Given the description of an element on the screen output the (x, y) to click on. 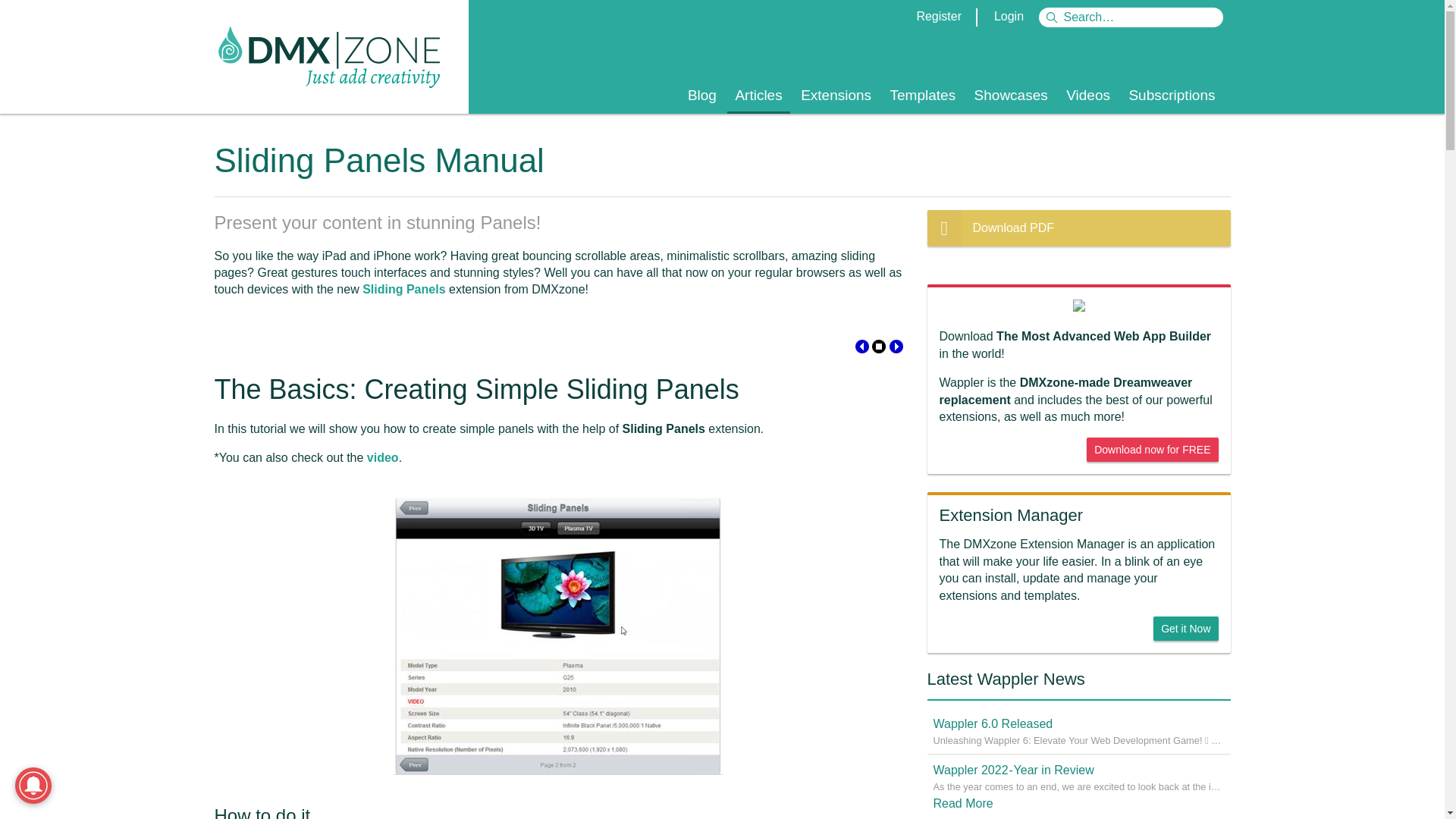
Before you begin (862, 349)
Register (937, 15)
Login (1008, 15)
Table of contents (878, 349)
Blog (701, 94)
Sliding Panels Extension for Dreamweaver (403, 288)
Advanced: Dynamic Sliding Panels  (895, 349)
Articles (757, 94)
